Given the description of an element on the screen output the (x, y) to click on. 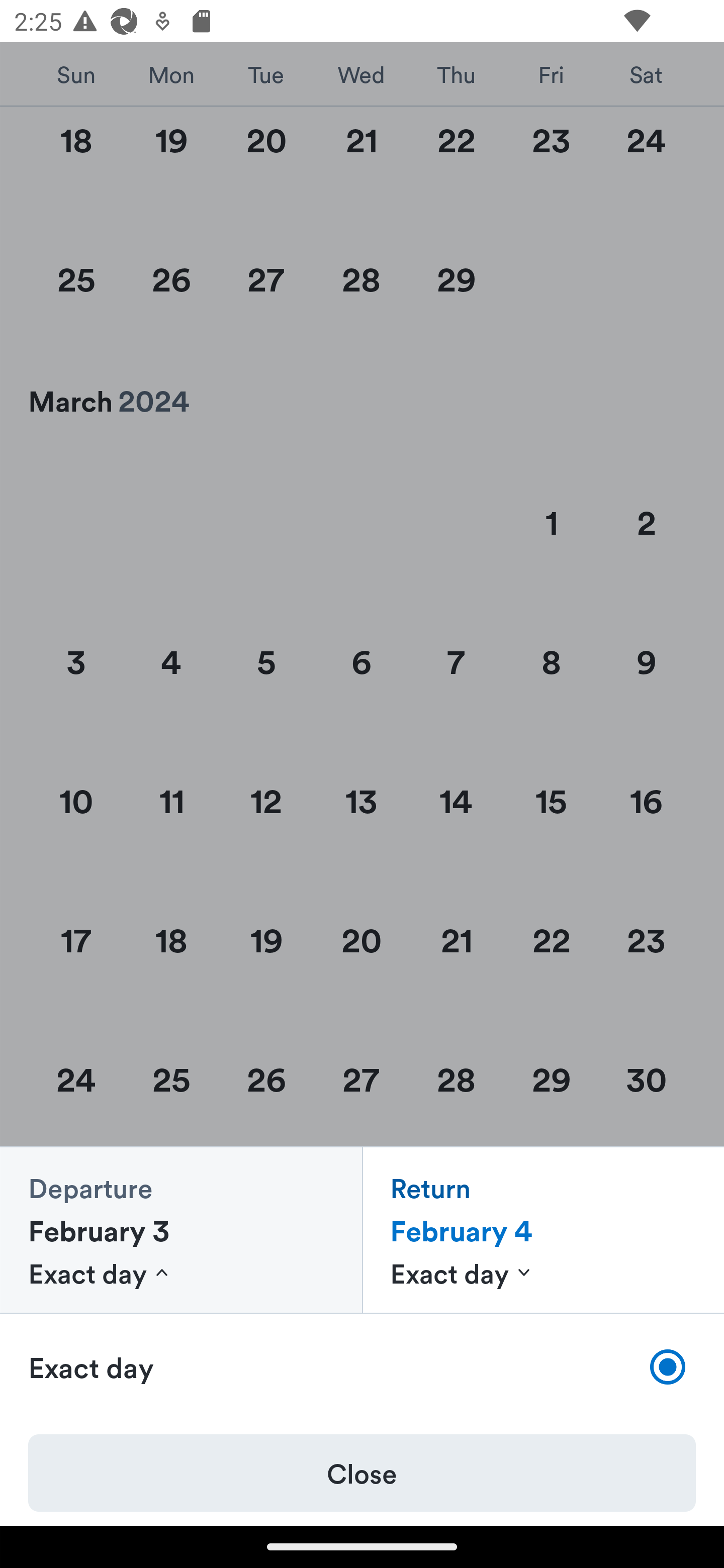
Exact day (362, 1366)
Close (361, 1472)
